Given the description of an element on the screen output the (x, y) to click on. 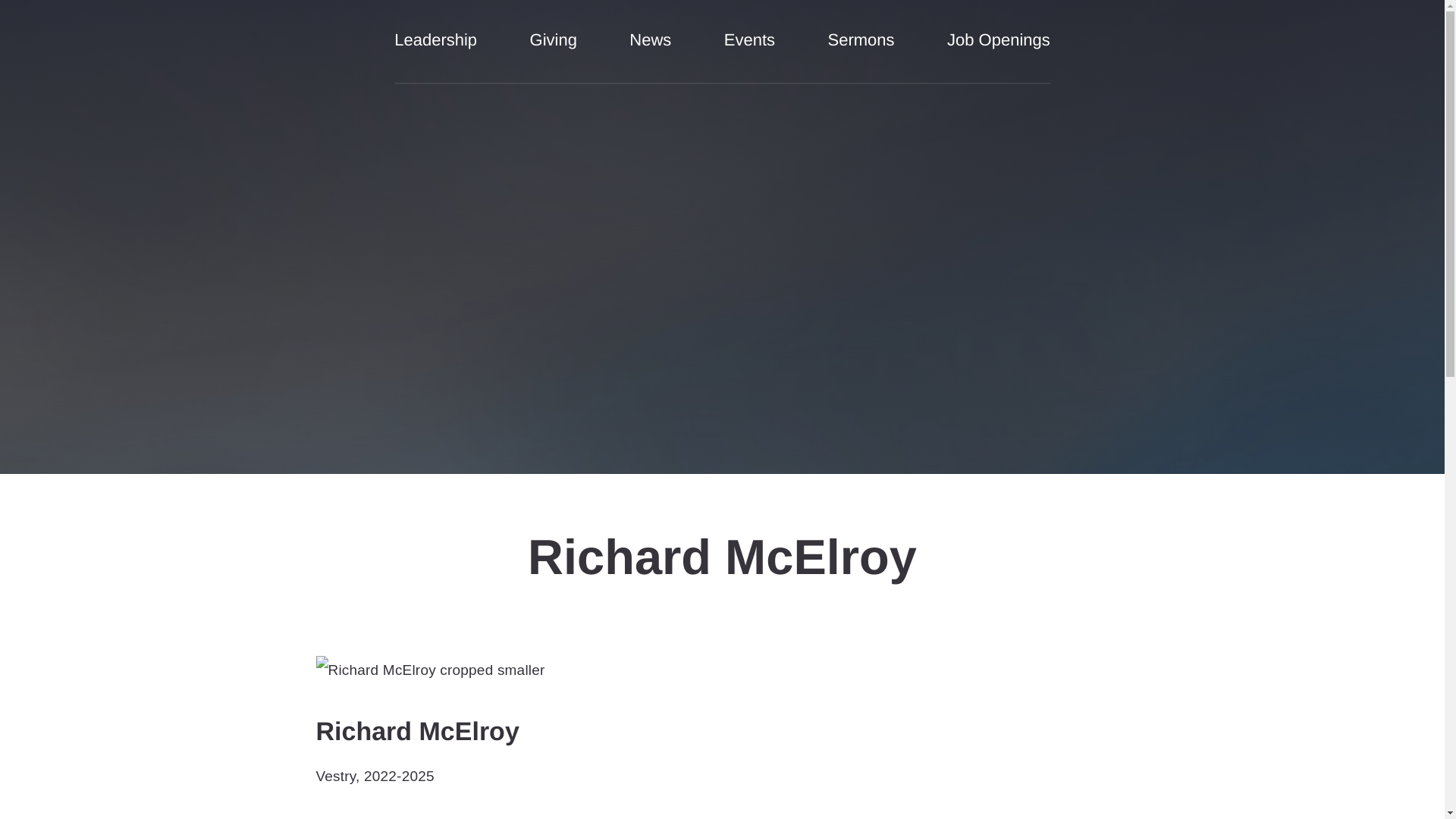
Sermons (861, 51)
News (649, 51)
Giving (552, 51)
Events (748, 51)
Job Openings (998, 51)
Leadership (435, 51)
